Given the description of an element on the screen output the (x, y) to click on. 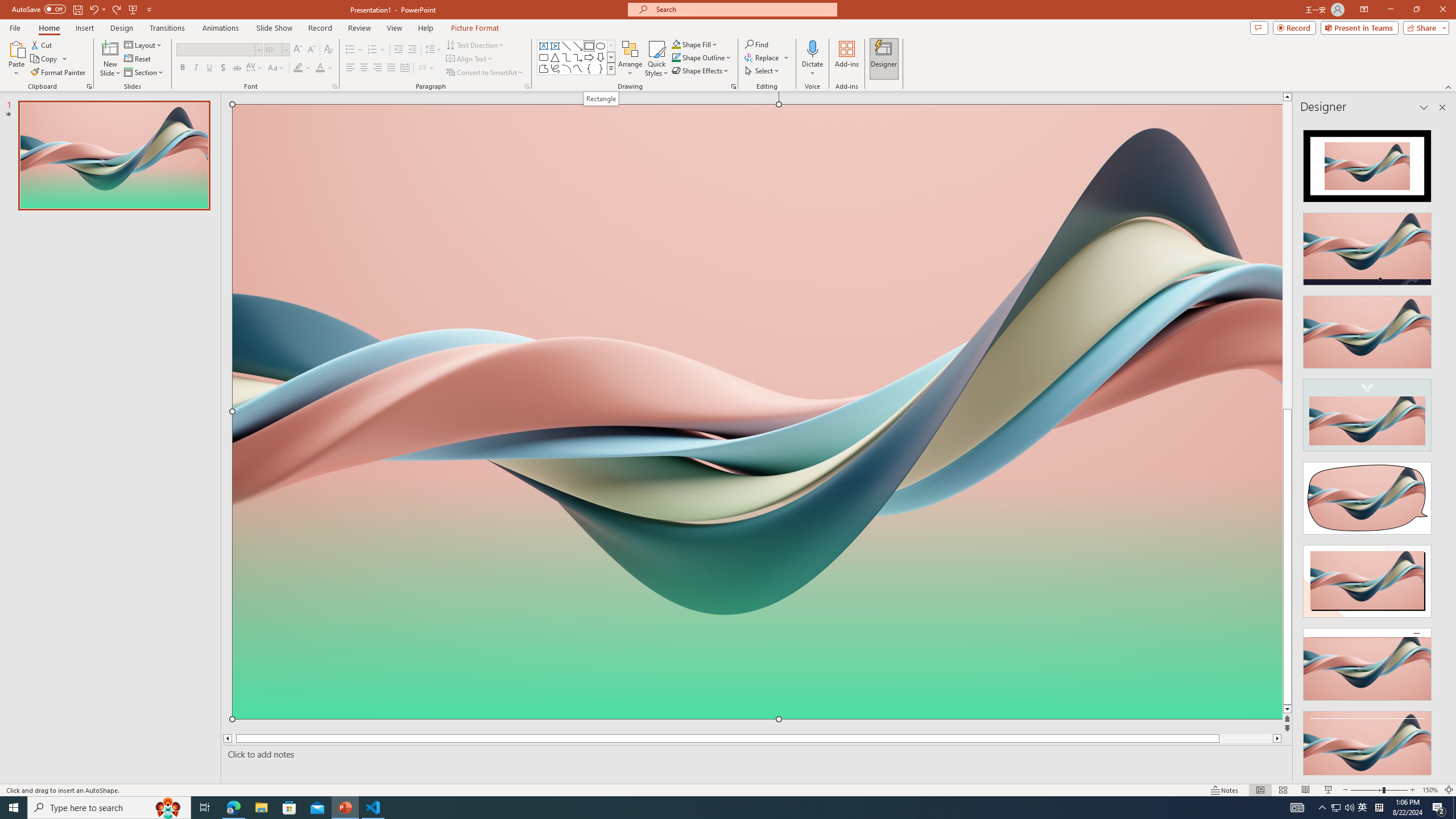
Shape Effects (700, 69)
